Given the description of an element on the screen output the (x, y) to click on. 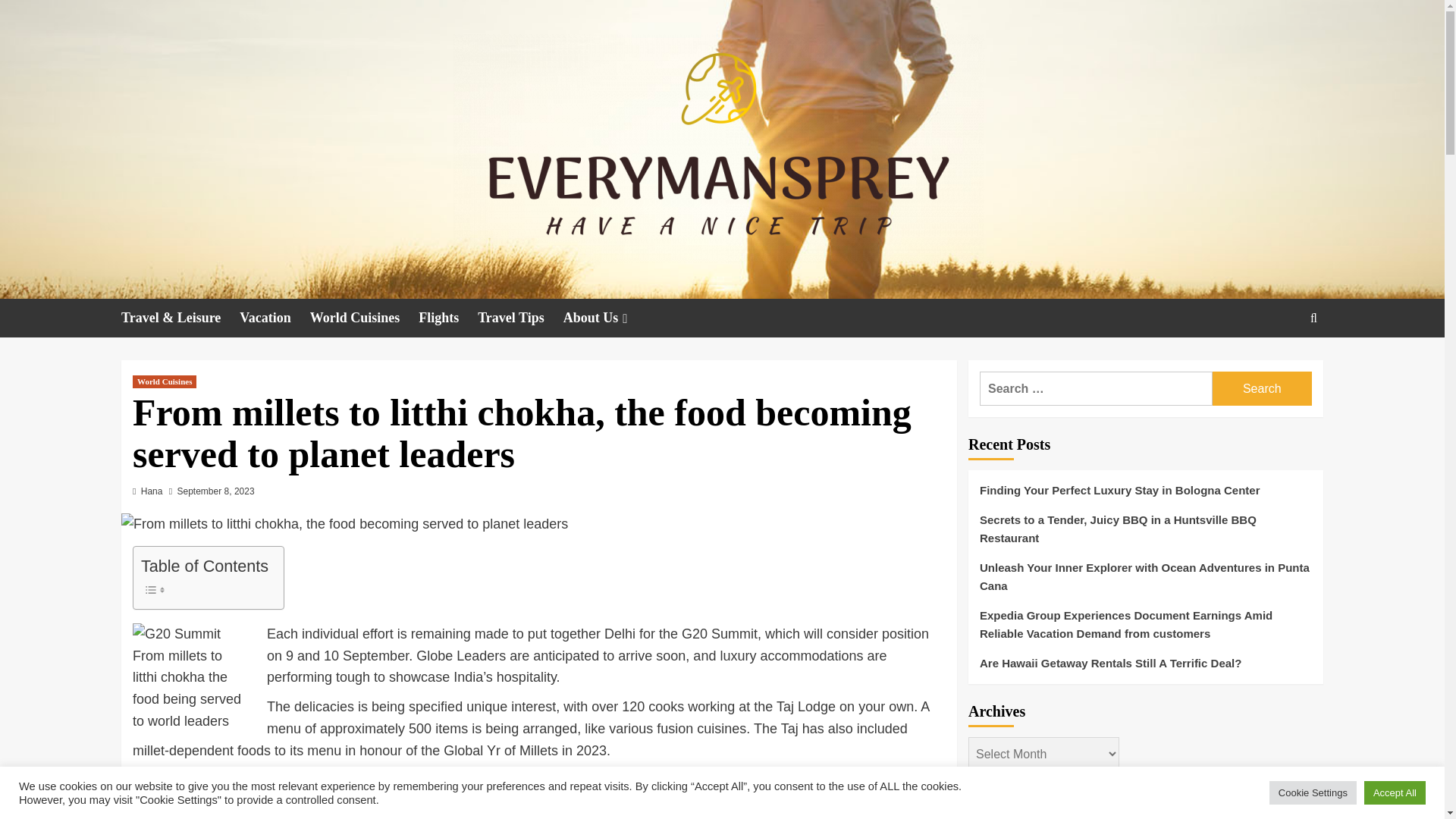
World Cuisines (164, 381)
World Cuisines (364, 317)
Flights (448, 317)
Search (1261, 388)
Travel Tips (520, 317)
September 8, 2023 (215, 491)
Vacation (274, 317)
Hana (152, 491)
About Us (606, 317)
